Given the description of an element on the screen output the (x, y) to click on. 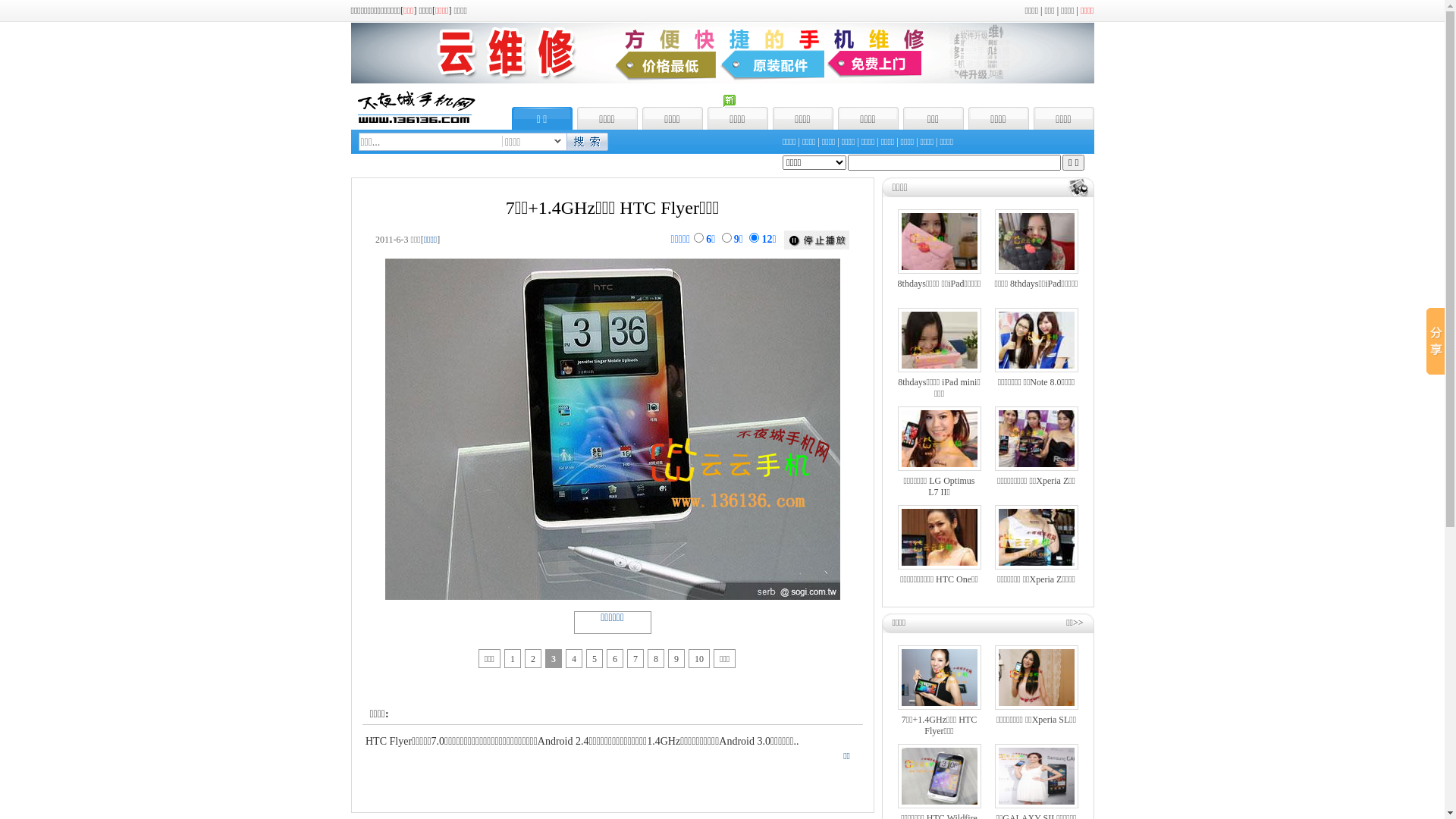
1 Element type: text (14, 572)
top1 Element type: hover (721, 80)
6 Element type: text (1287, 205)
2 Element type: text (22, 572)
12 Element type: text (1346, 205)
9 Element type: text (75, 572)
6 Element type: text (52, 572)
4 Element type: text (37, 572)
5 Element type: text (45, 572)
3 Element type: text (30, 572)
7 Element type: text (60, 572)
10 Element type: text (85, 572)
8 Element type: text (67, 572)
9 Element type: text (1316, 205)
